Given the description of an element on the screen output the (x, y) to click on. 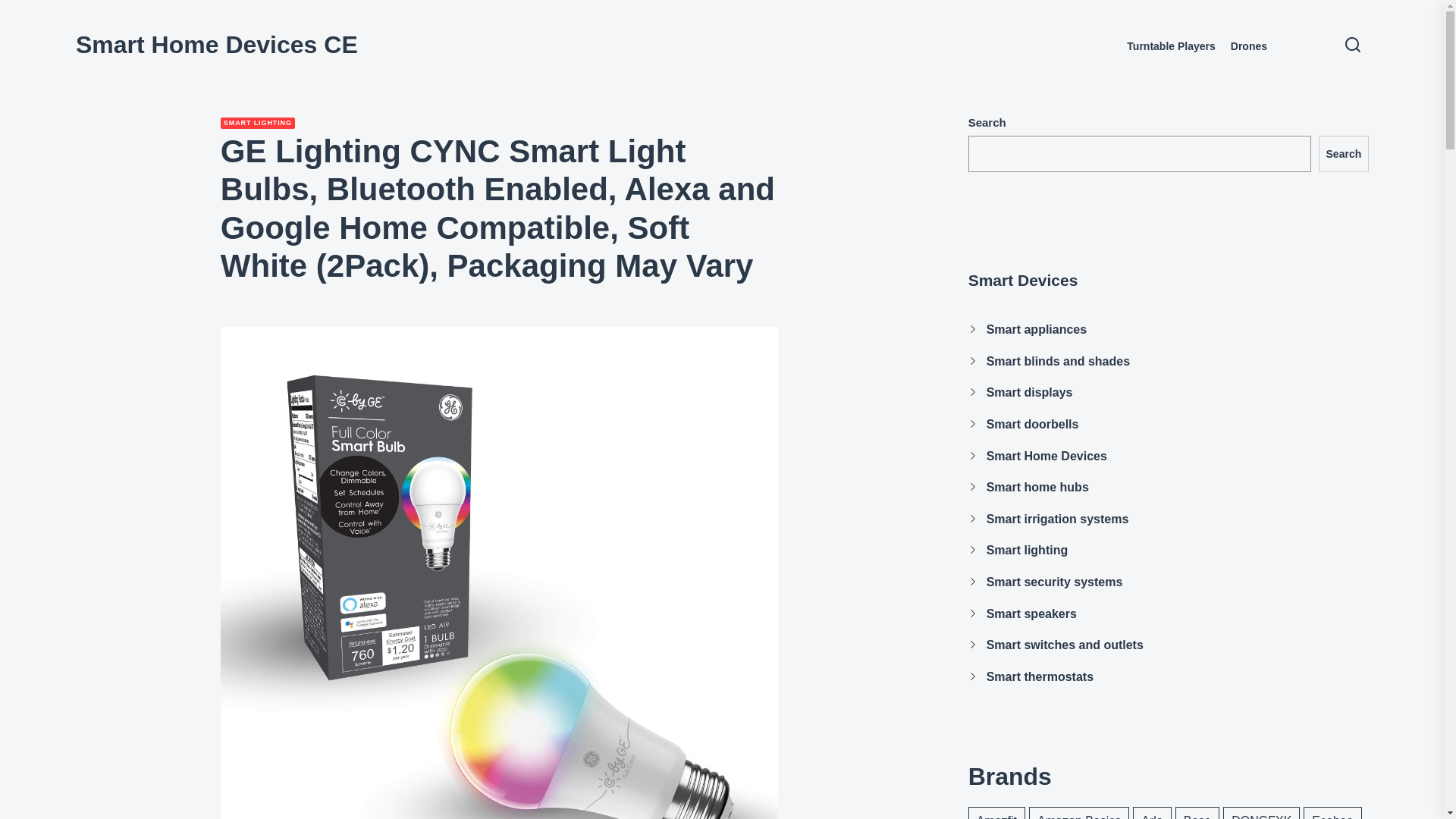
Turntable Players (1170, 46)
Smart appliances (1037, 328)
Drones (1248, 46)
Search (1343, 153)
SMART LIGHTING (258, 122)
Smart Home Devices CE (216, 44)
